Given the description of an element on the screen output the (x, y) to click on. 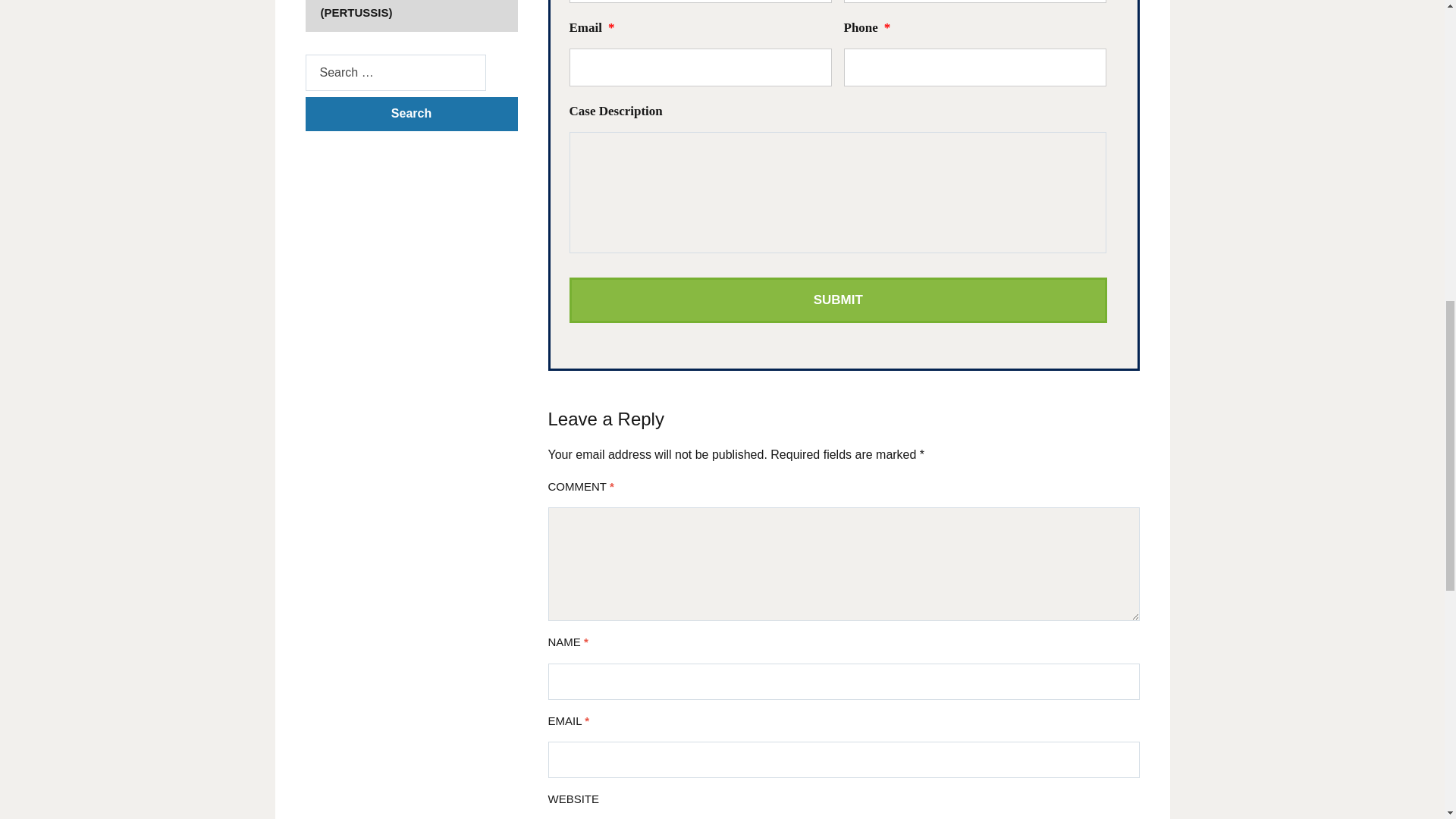
Search (410, 114)
Submit (837, 299)
Search (410, 114)
